Given the description of an element on the screen output the (x, y) to click on. 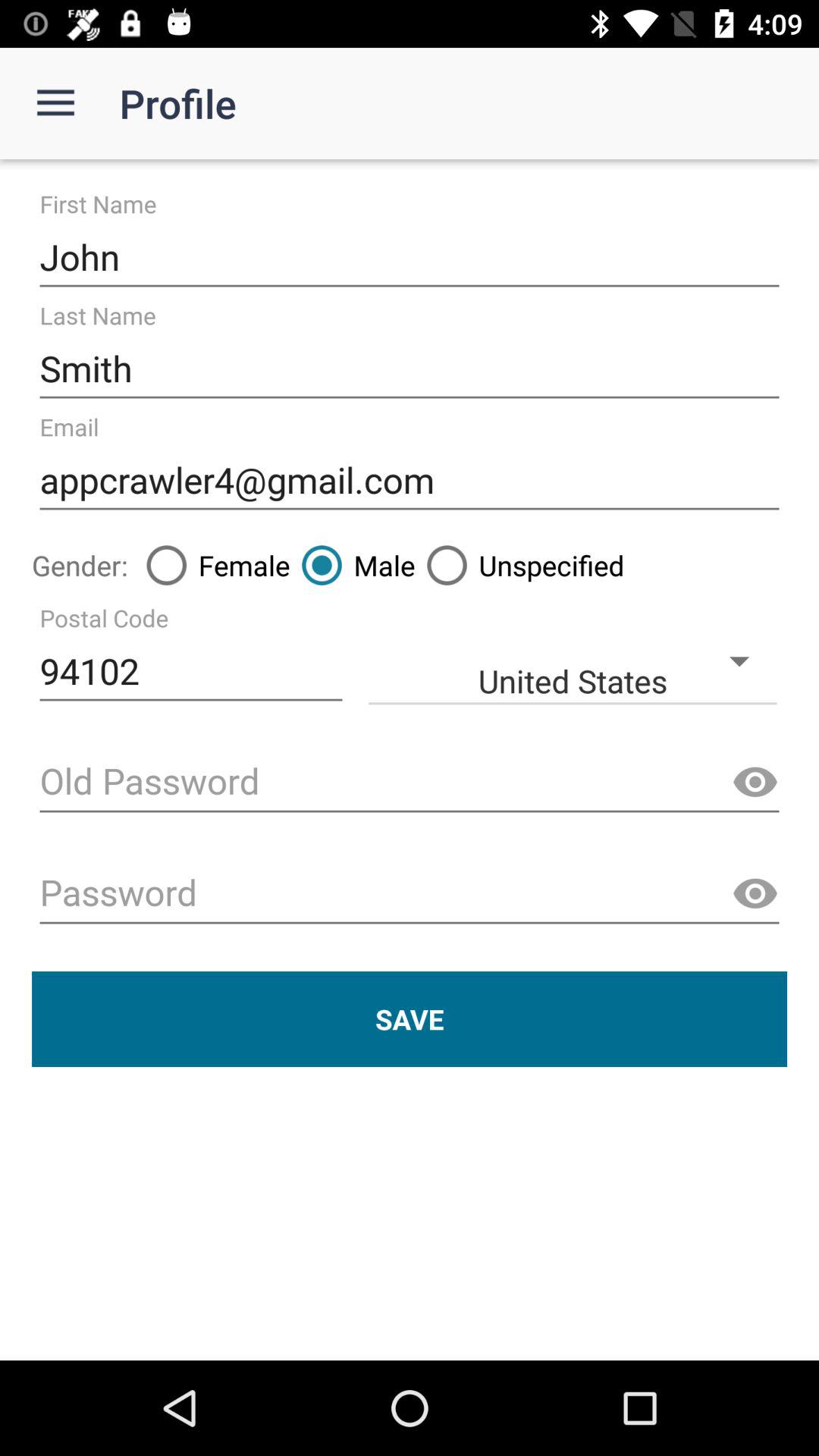
choose female item (212, 565)
